Given the description of an element on the screen output the (x, y) to click on. 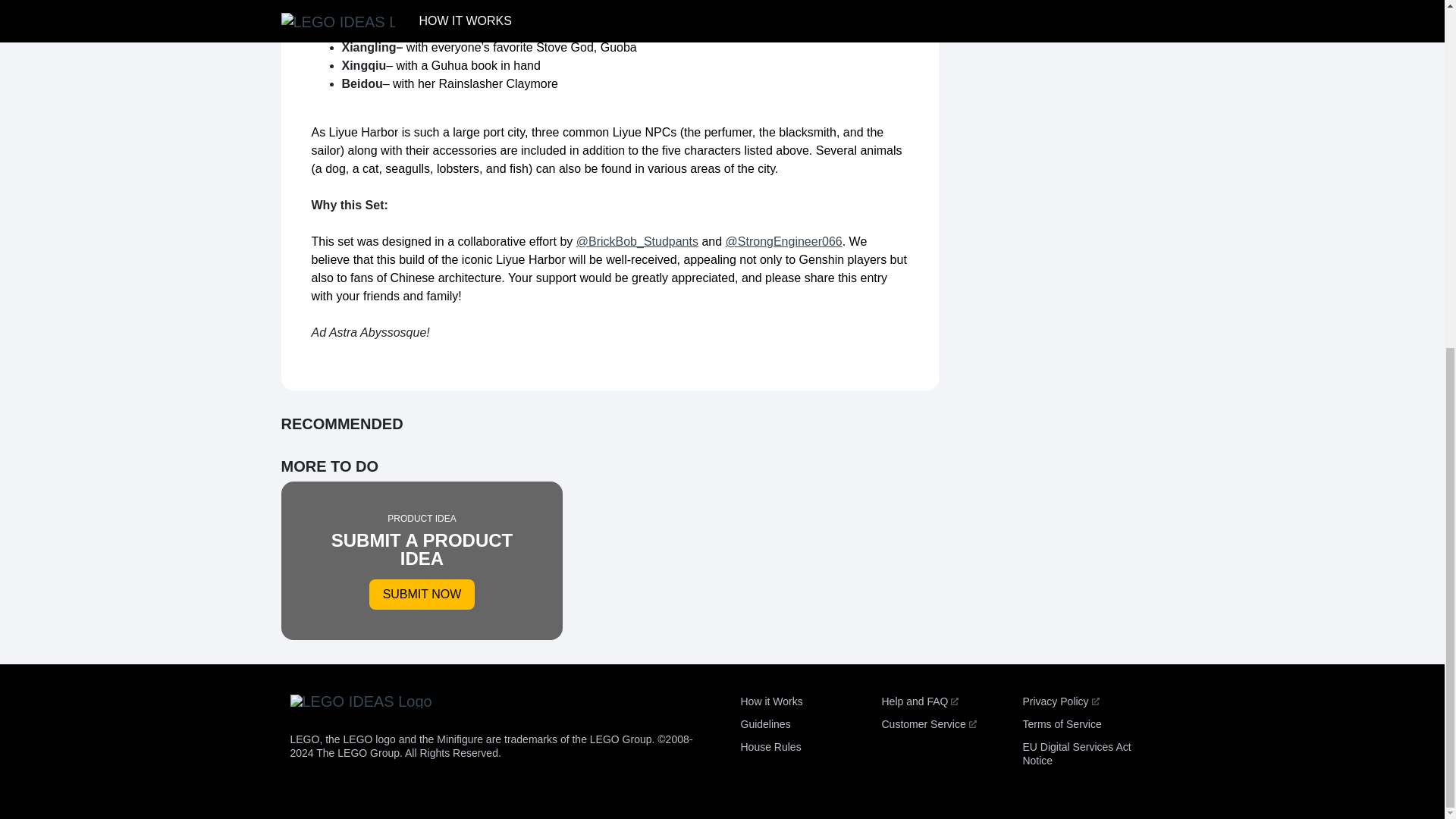
Privacy Policy (1060, 701)
Help and FAQ (919, 701)
House Rules (421, 560)
Guidelines (769, 746)
Customer Service (764, 724)
How it Works (927, 724)
EU Digital Services Act Notice (770, 701)
Terms of Service (1076, 753)
